Given the description of an element on the screen output the (x, y) to click on. 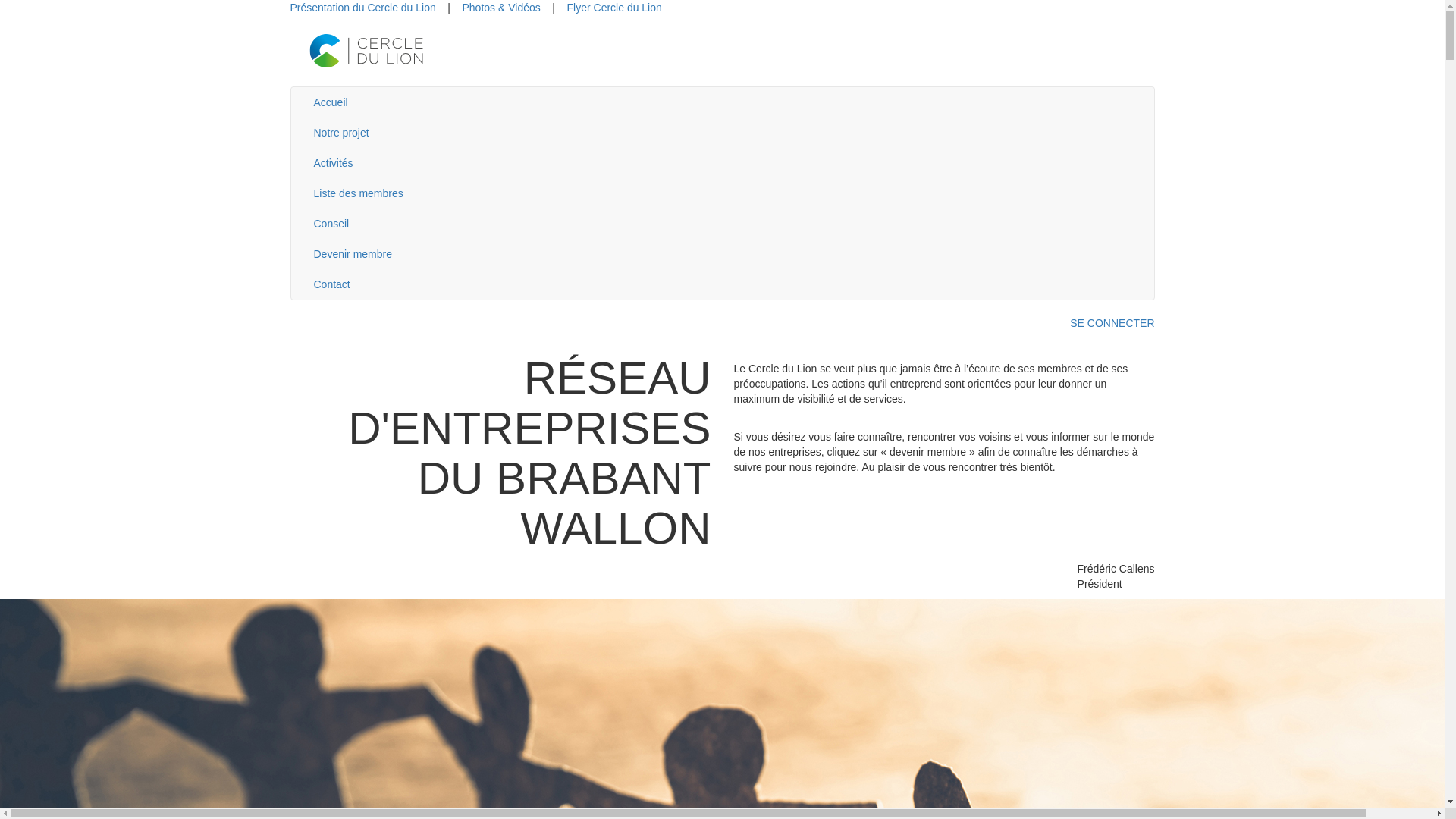
Devenir membre Element type: text (721, 253)
Accueil Element type: text (721, 102)
Liste des membres Element type: text (721, 193)
Flyer Cercle du Lion Element type: text (614, 7)
Notre projet Element type: text (721, 132)
Contact Element type: text (721, 284)
Conseil Element type: text (721, 223)
SE CONNECTER Element type: text (721, 322)
